Given the description of an element on the screen output the (x, y) to click on. 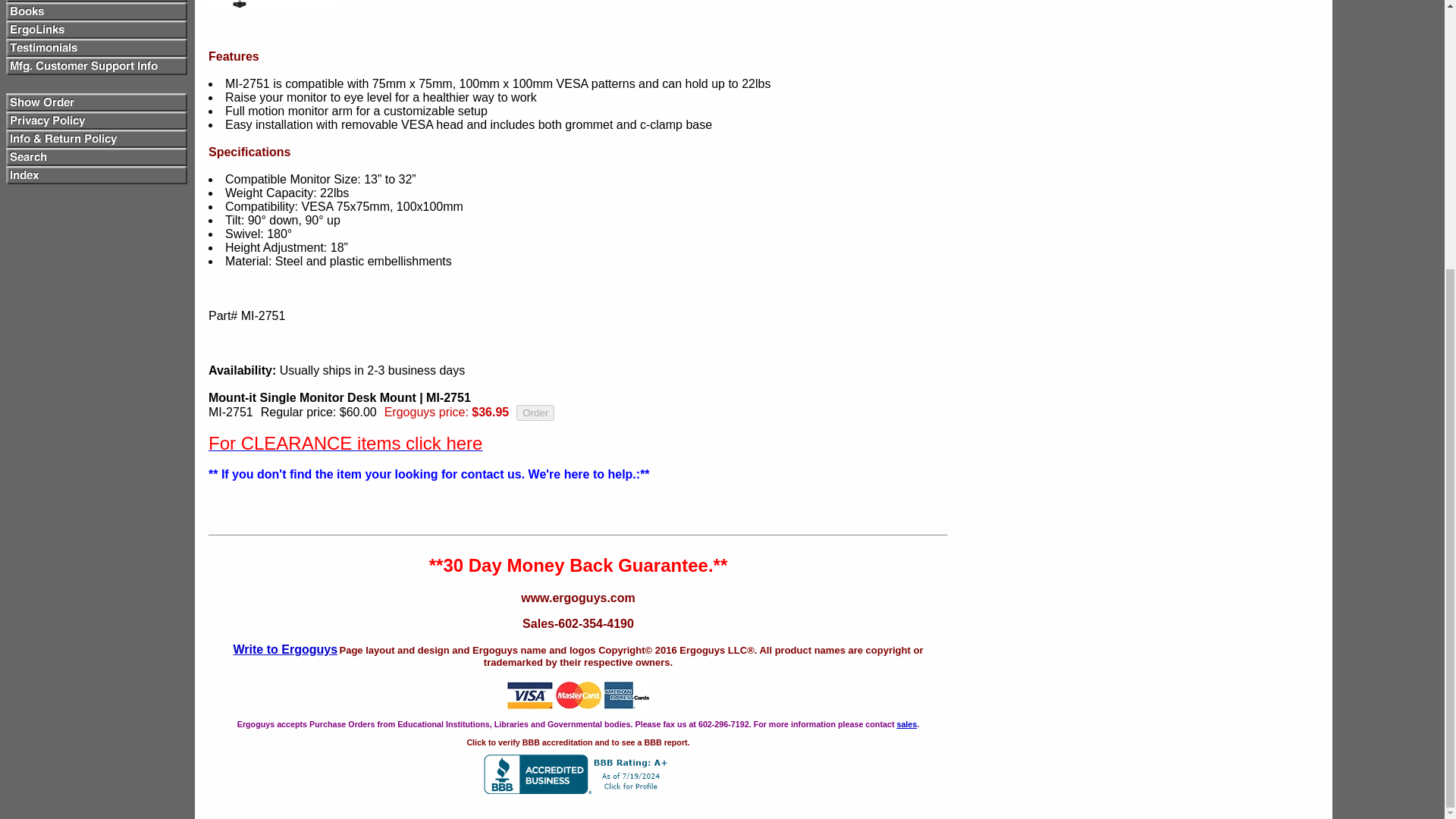
Order (535, 412)
Write to Ergoguys (284, 649)
Order (535, 412)
Sales-602-354-4190 (577, 636)
sales (906, 723)
For CLEARANCE items click here (344, 445)
